Given the description of an element on the screen output the (x, y) to click on. 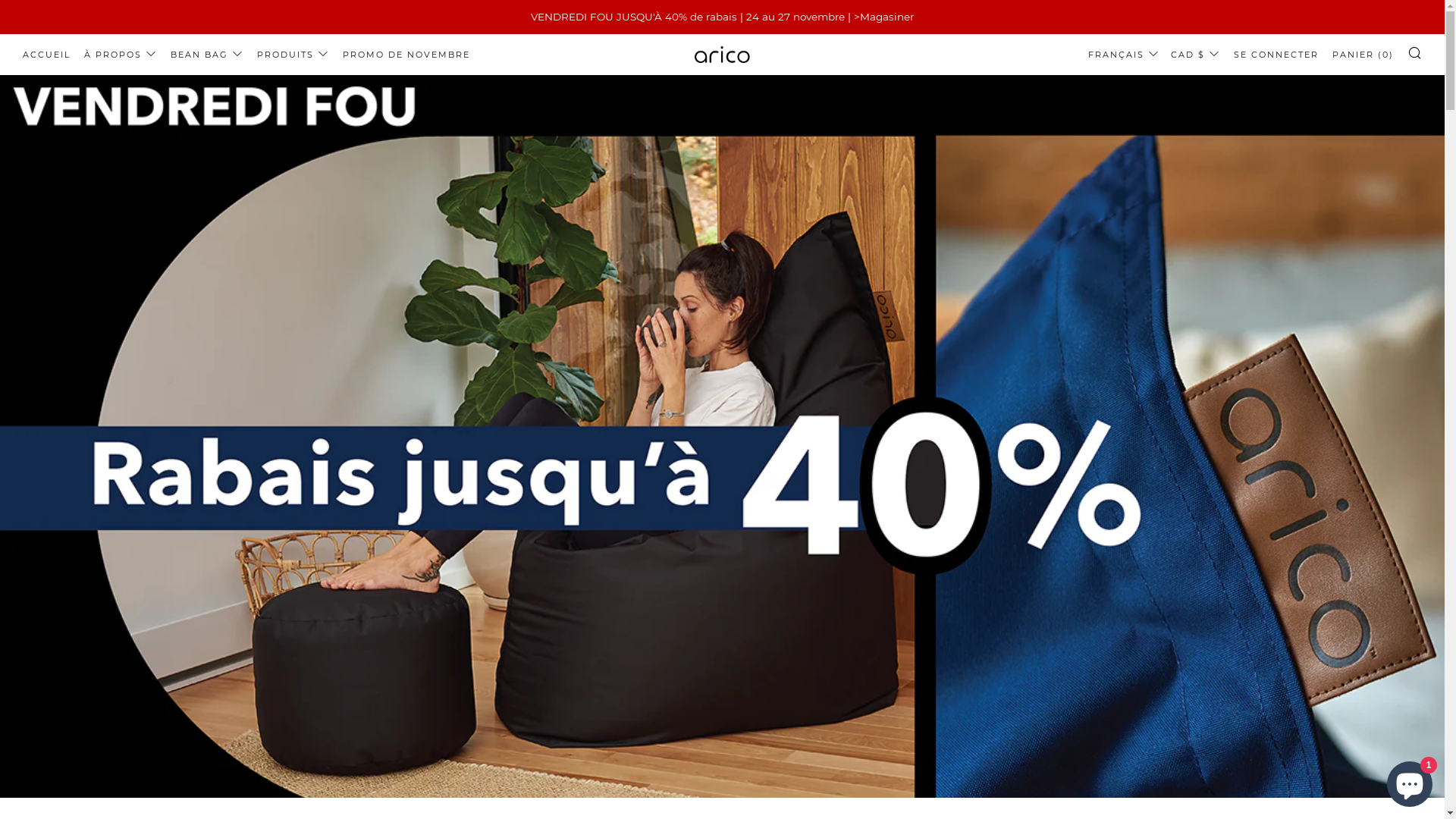
Chat de la boutique en ligne Shopify Element type: hover (1409, 780)
SE CONNECTER Element type: text (1275, 54)
PROMO DE NOVEMBRE Element type: text (406, 54)
RECHERCHE Element type: text (1414, 52)
PANIER (0) Element type: text (1362, 54)
PRODUITS Element type: text (293, 54)
ACCUEIL Element type: text (46, 54)
CAD $ Element type: text (1195, 54)
BEAN BAG Element type: text (206, 54)
